Given the description of an element on the screen output the (x, y) to click on. 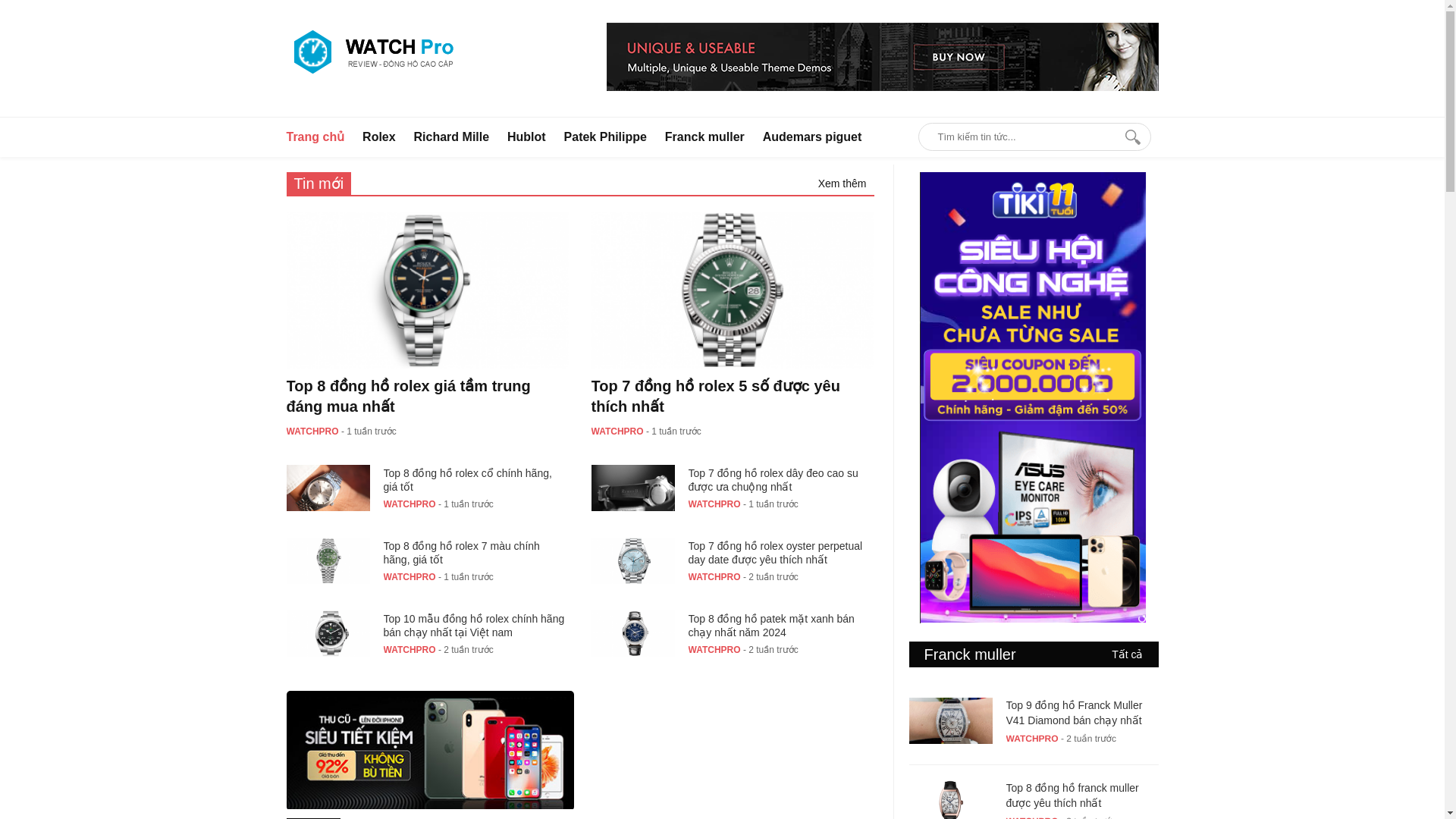
Audemars piguet (811, 137)
Richard Mille (451, 137)
Patek Philippe (605, 137)
Franck muller (704, 137)
Hublot (526, 137)
